Given the description of an element on the screen output the (x, y) to click on. 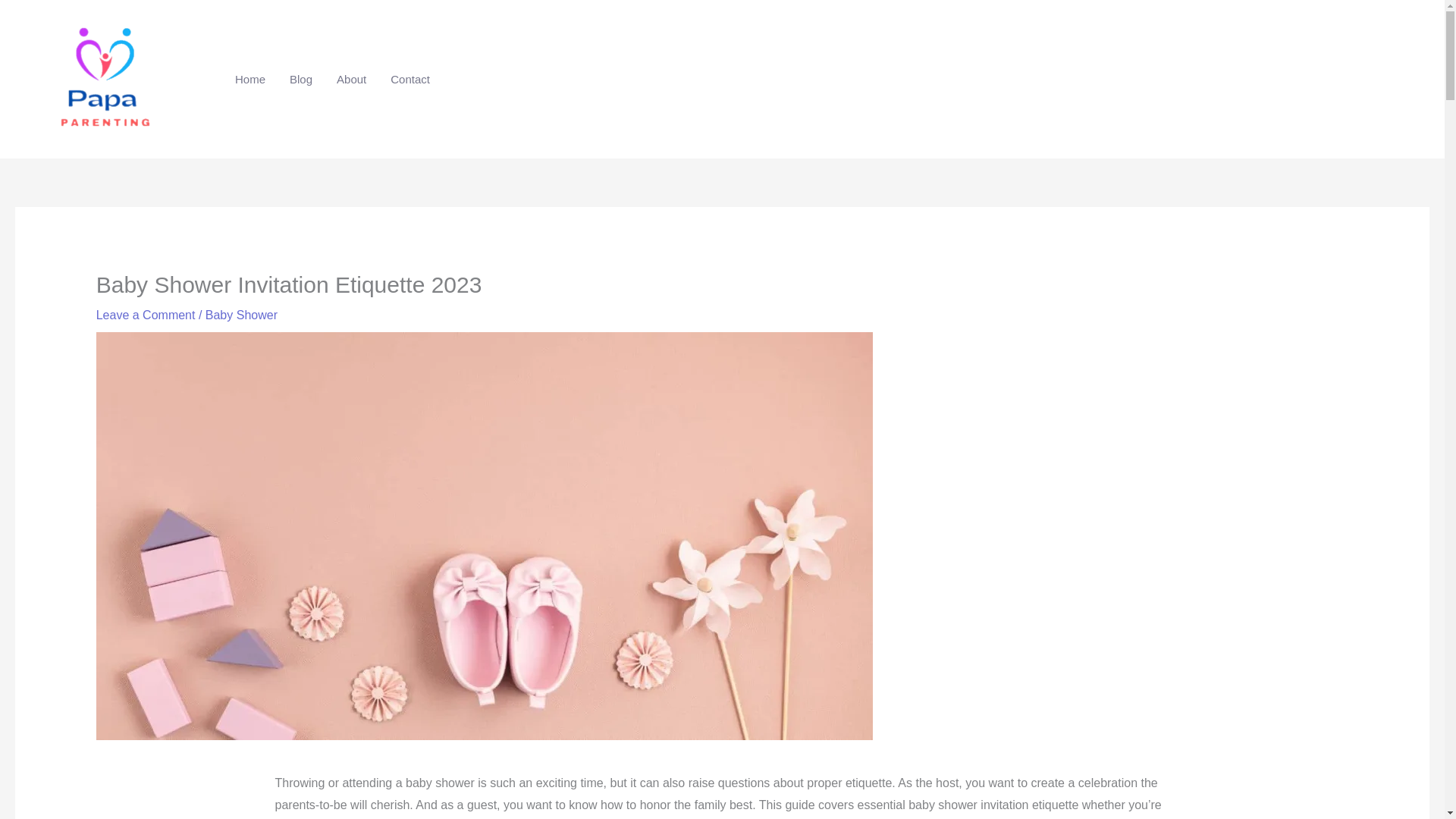
Baby Shower (241, 314)
Contact (410, 79)
Leave a Comment (145, 314)
About (351, 79)
Home (250, 79)
